Given the description of an element on the screen output the (x, y) to click on. 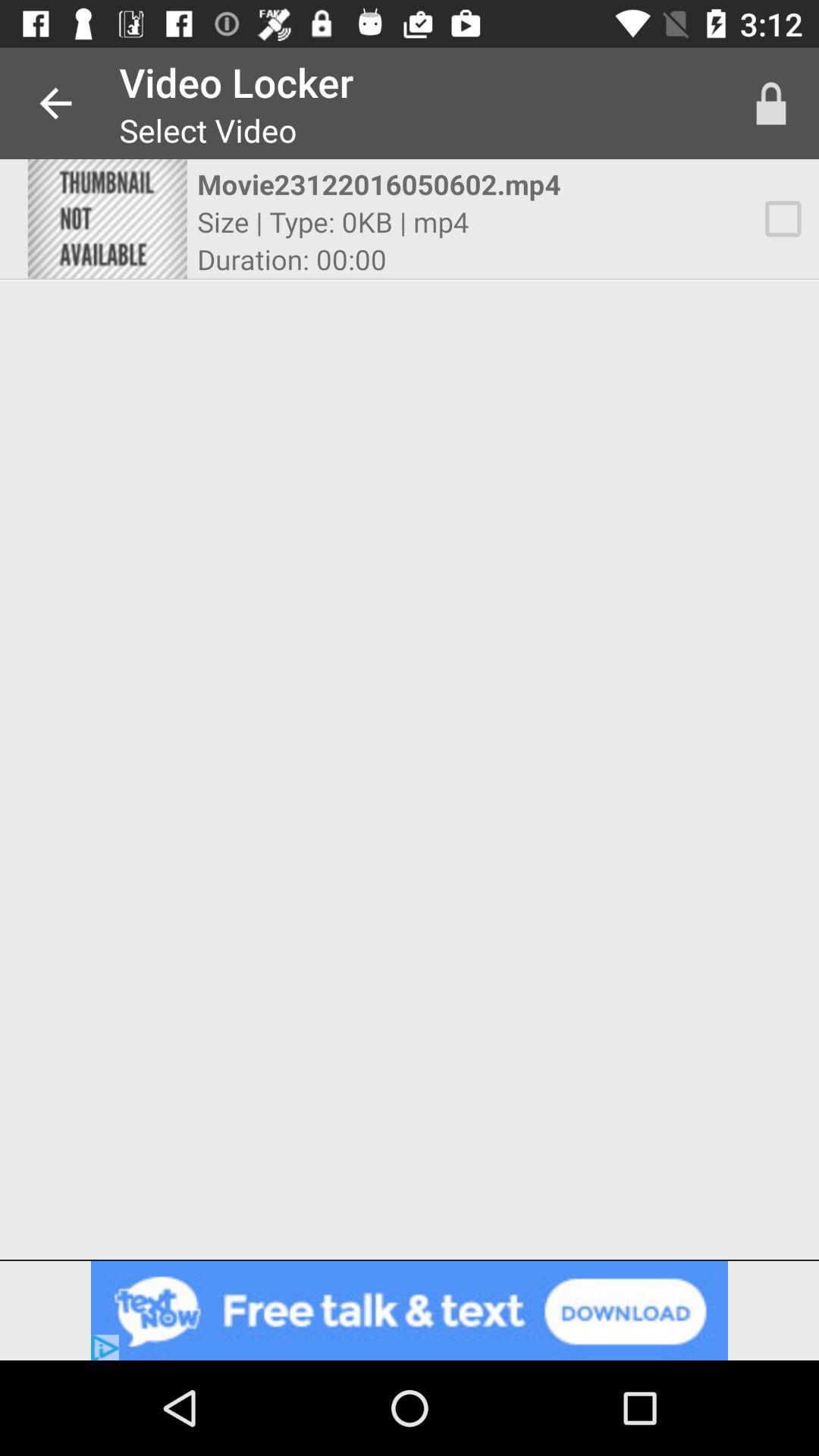
press icon above the size type 0kb (396, 184)
